Given the description of an element on the screen output the (x, y) to click on. 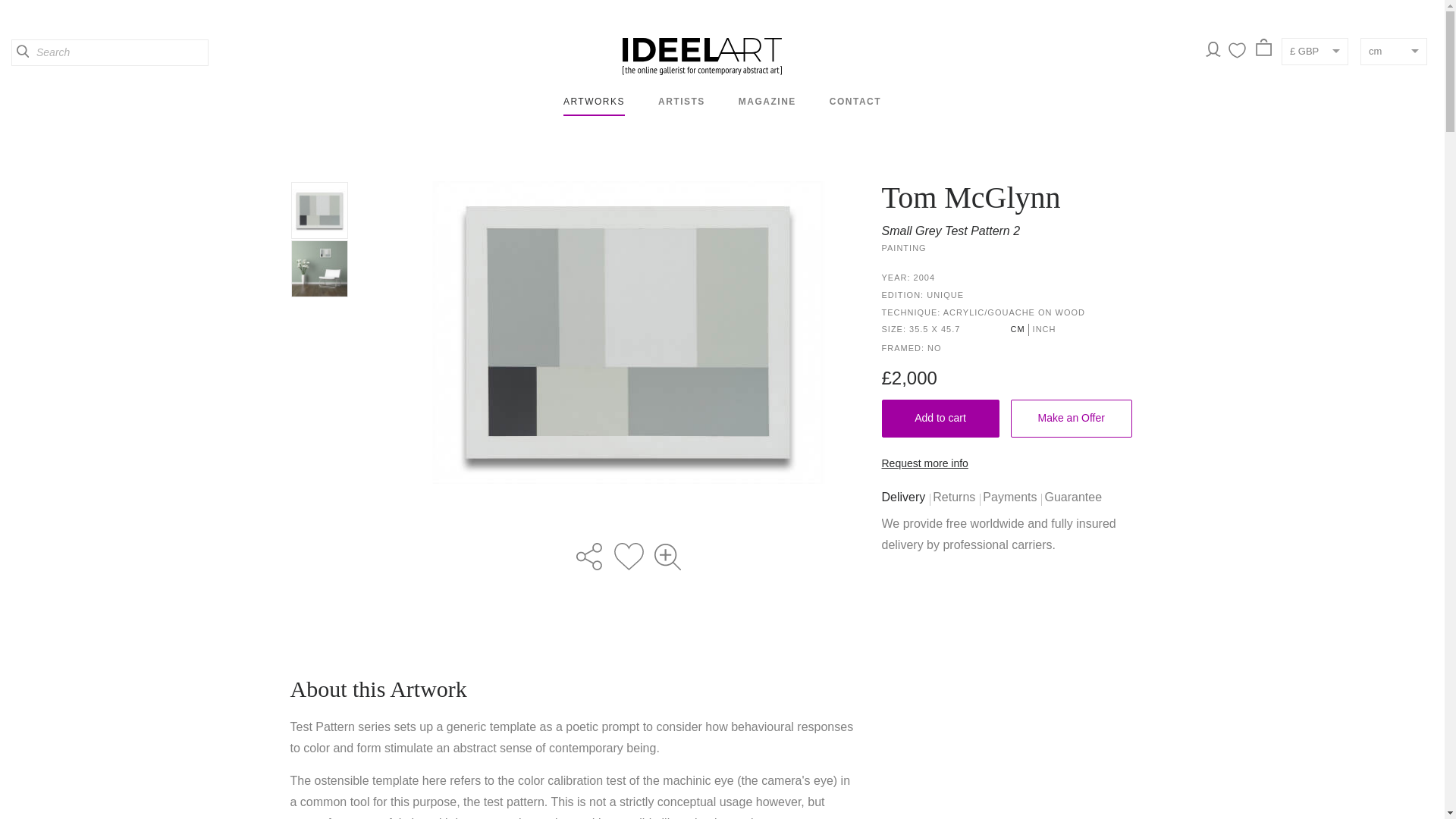
MAGAZINE (767, 101)
ARTISTS (681, 101)
cm (1393, 51)
CONTACT (854, 101)
ARTWORKS (593, 102)
